Given the description of an element on the screen output the (x, y) to click on. 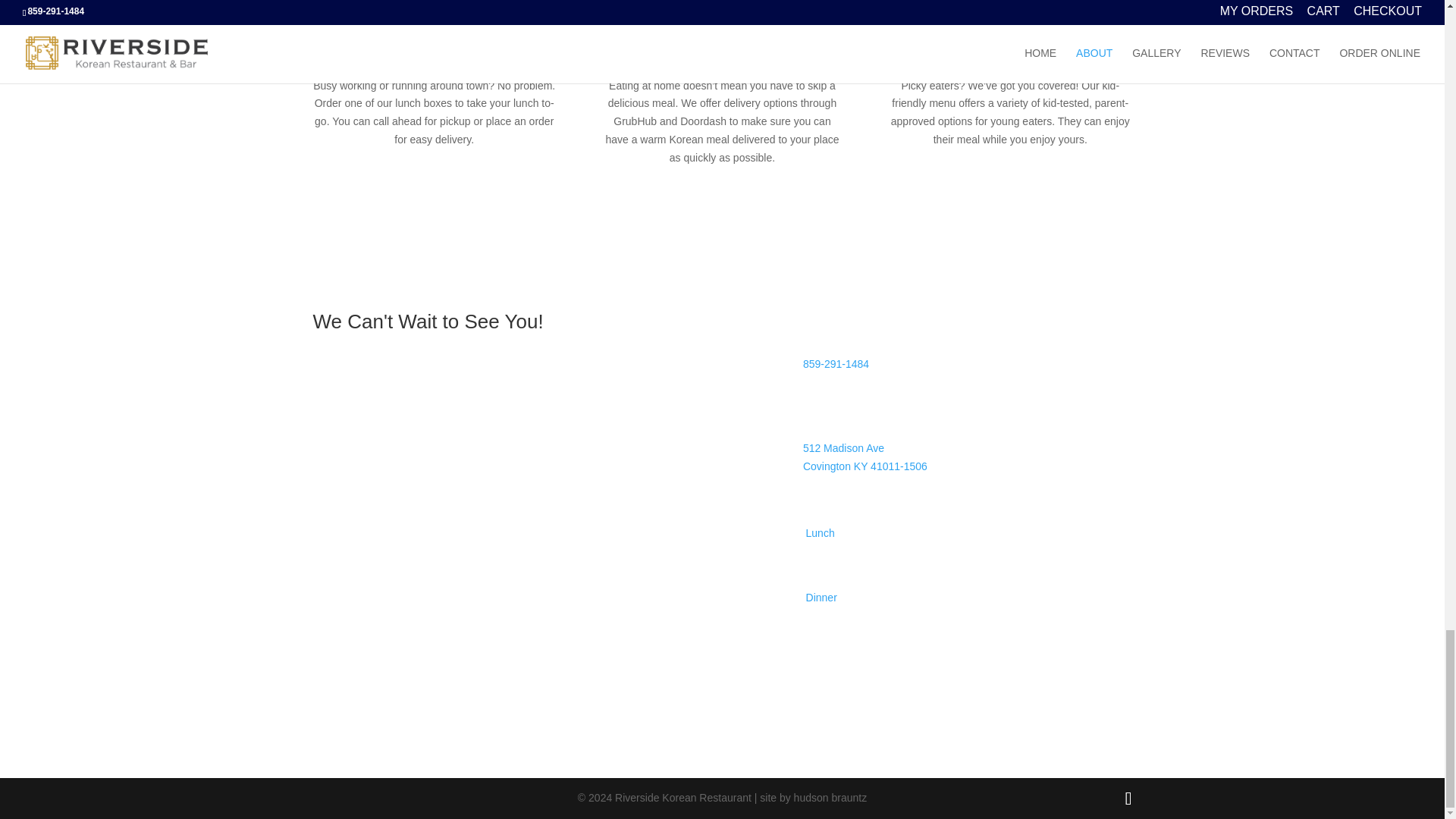
Book a Table (372, 380)
Call Us (825, 340)
Lunch (820, 532)
859-291-1484 (836, 363)
Dinner (865, 457)
